Given the description of an element on the screen output the (x, y) to click on. 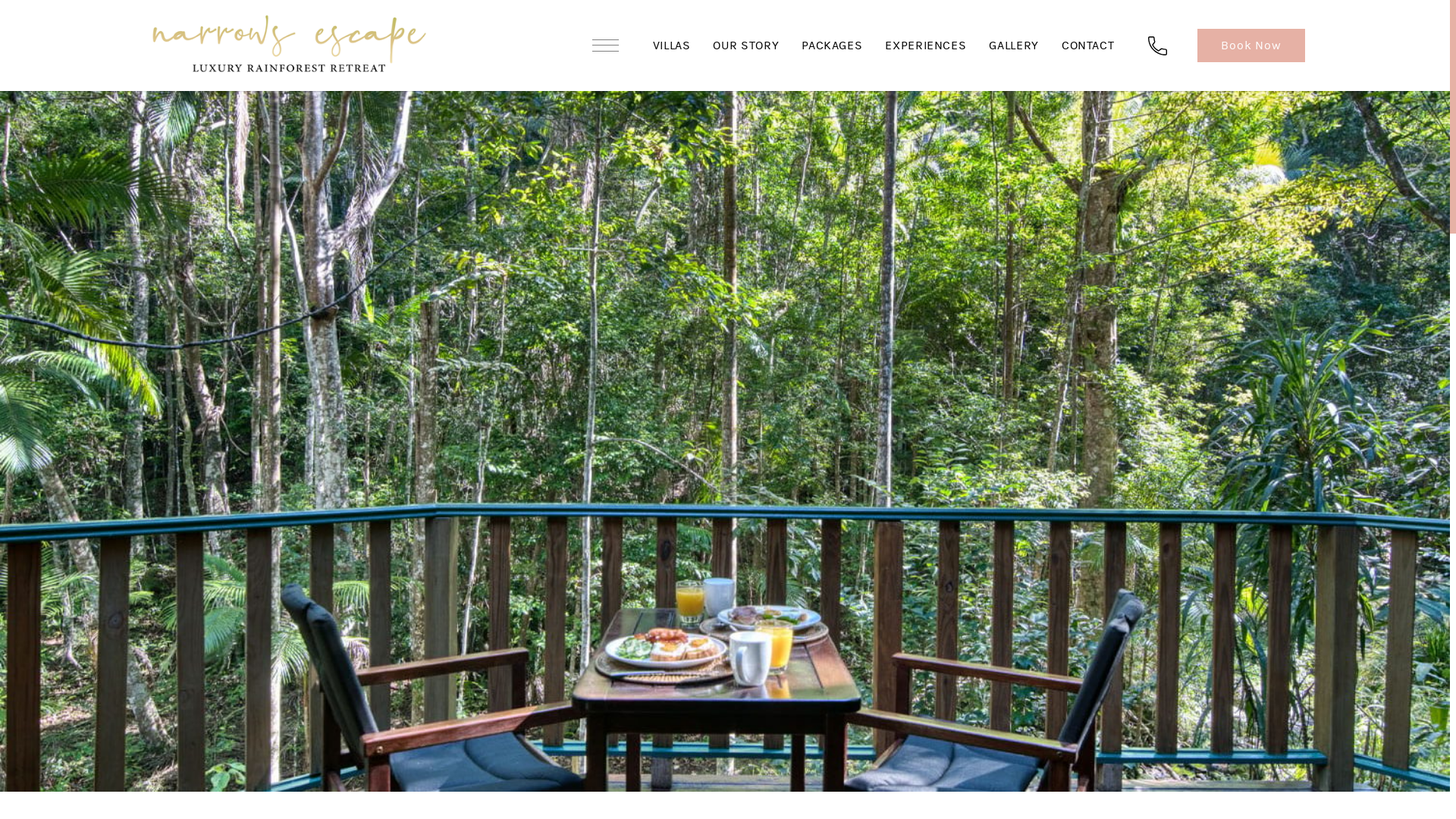
EXPERIENCES Element type: text (925, 45)
GALLERY Element type: text (1013, 45)
Book Now Element type: text (1250, 45)
Call Us Element type: hover (1157, 45)
VILLAS Element type: text (671, 45)
Narrows Escape Element type: hover (288, 45)
CONTACT Element type: text (1087, 45)
OUR STORY Element type: text (745, 45)
PACKAGES Element type: text (831, 45)
